Given the description of an element on the screen output the (x, y) to click on. 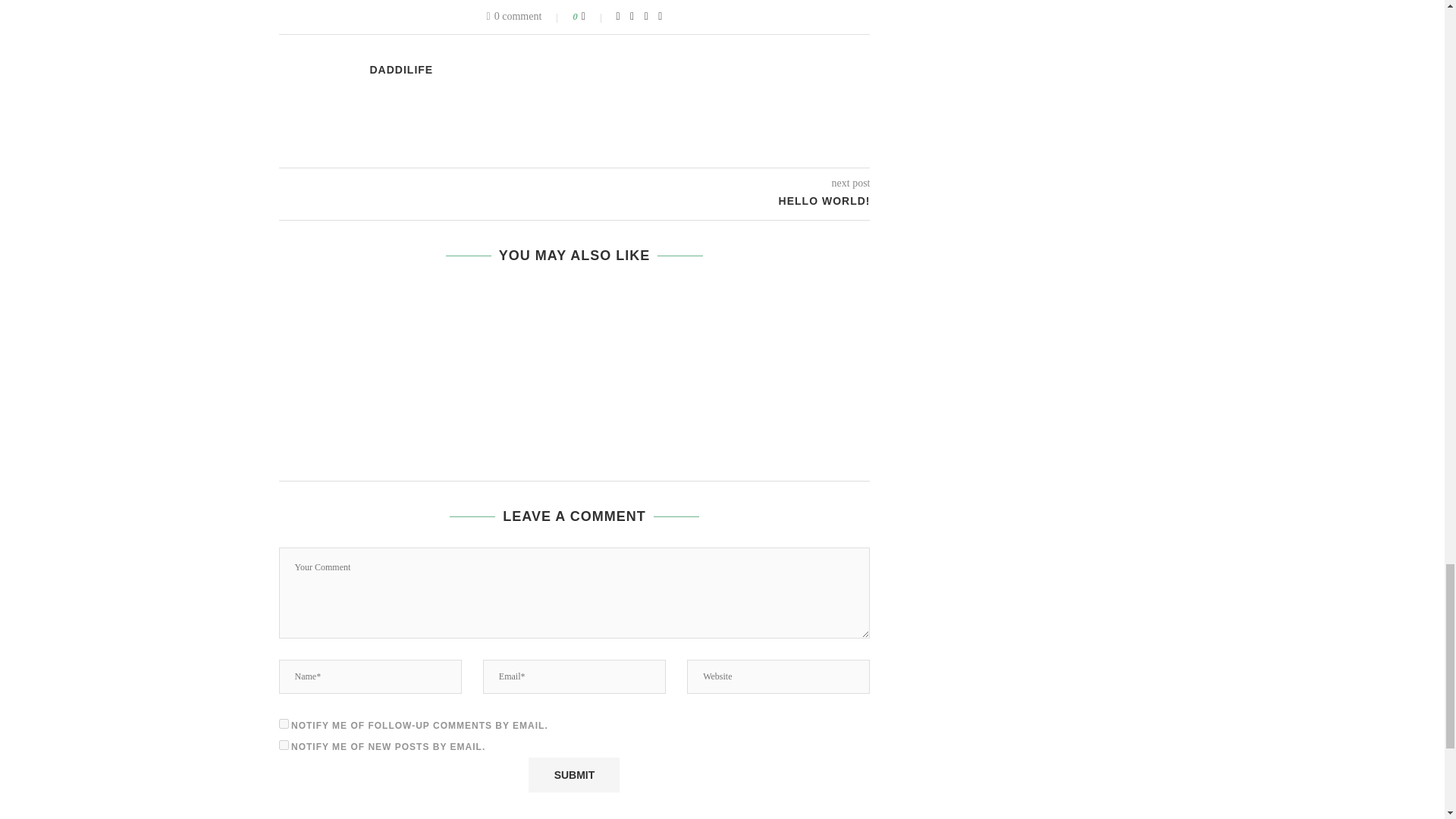
subscribe (283, 723)
subscribe (283, 745)
Like (592, 16)
Submit (574, 774)
Posts by DaddiLife (401, 69)
